Given the description of an element on the screen output the (x, y) to click on. 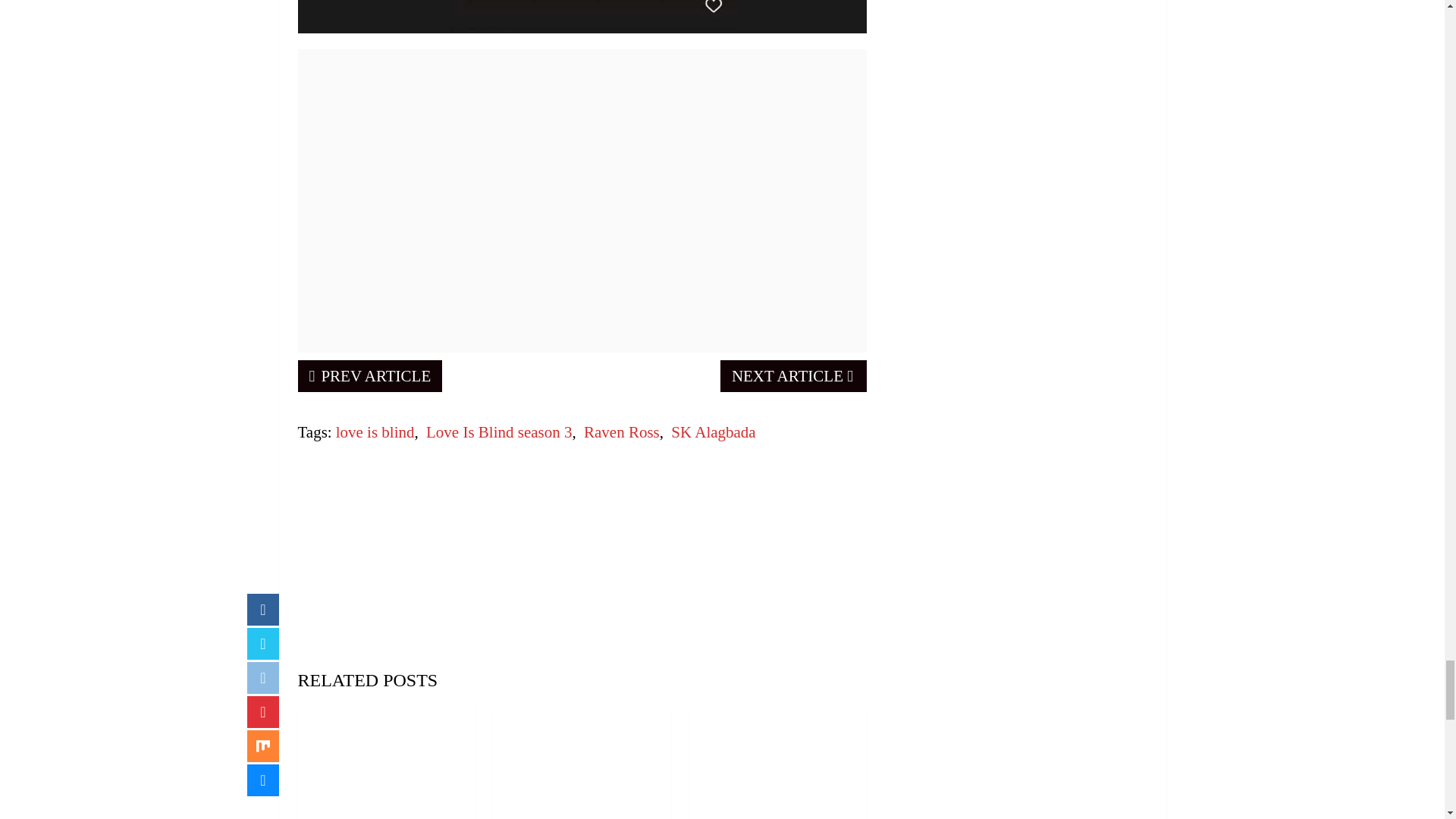
love is blind (375, 432)
NEXT ARTICLE (793, 376)
PREV ARTICLE (369, 376)
Raven Ross (621, 432)
Love Is Blind season 3 (499, 432)
SK Alagbada (713, 432)
